Given the description of an element on the screen output the (x, y) to click on. 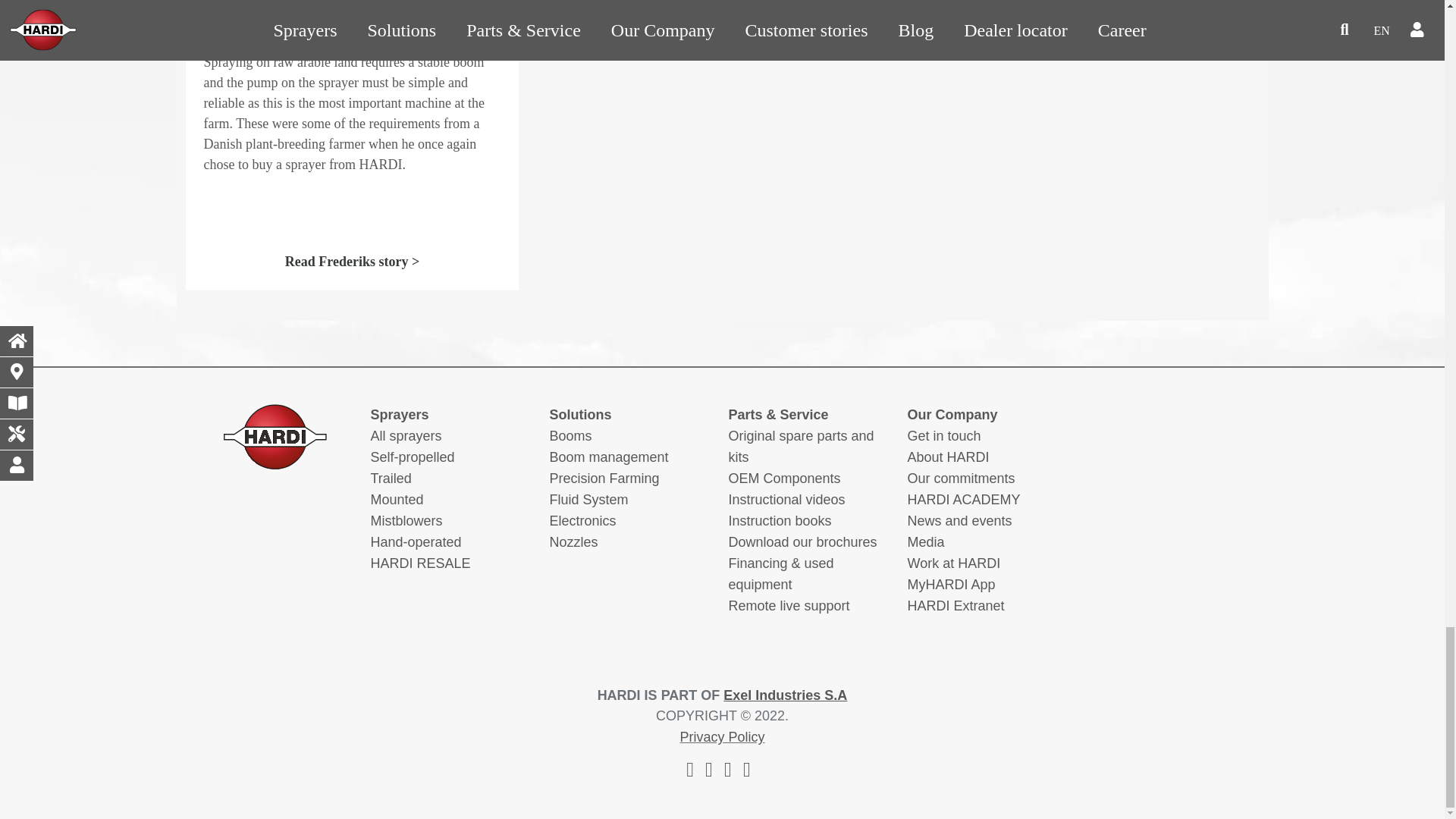
LinkedIn (746, 770)
Instagram (708, 770)
Facebook (689, 770)
Youtube (727, 770)
